Given the description of an element on the screen output the (x, y) to click on. 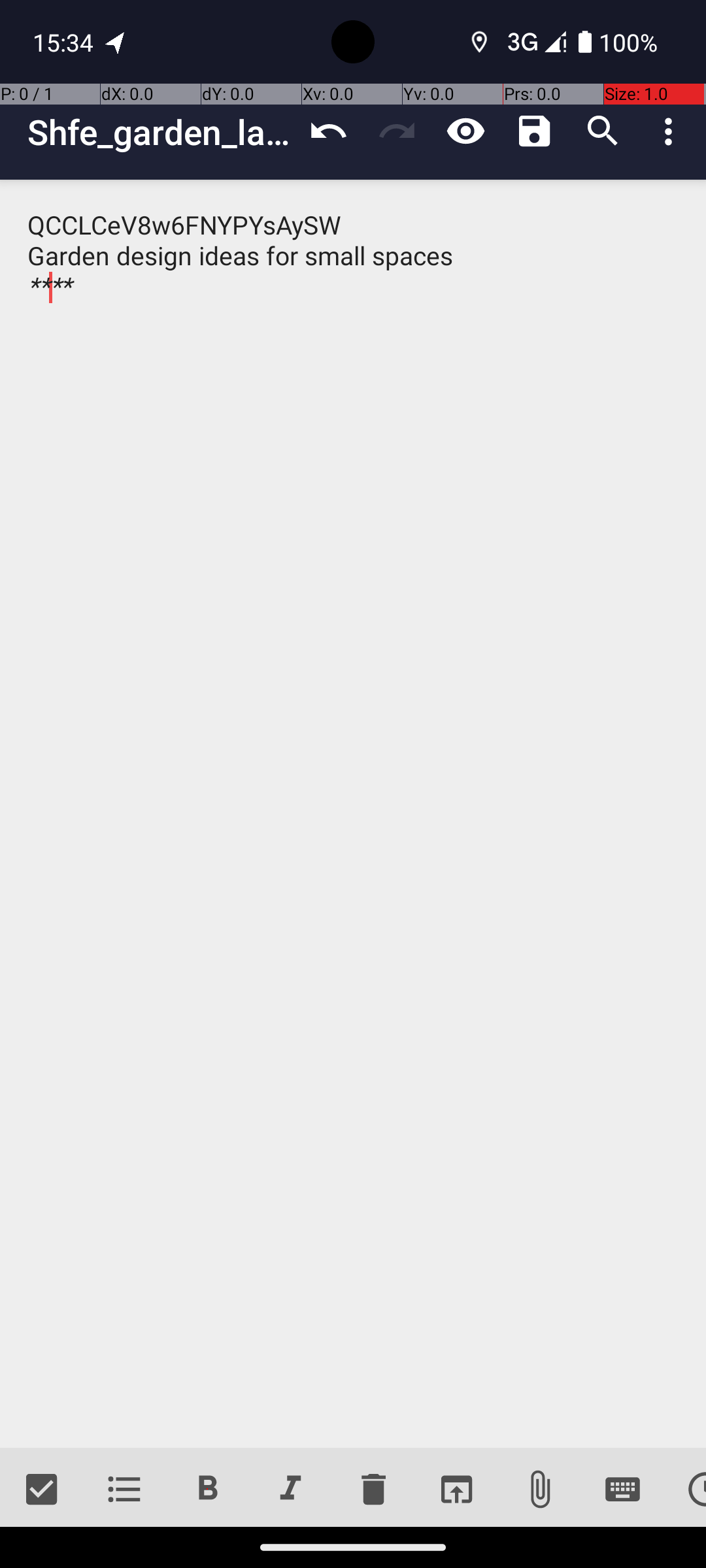
Shfe_garden_layout_plan Element type: android.widget.TextView (160, 131)
QCCLCeV8w6FNYPYsAySW
Garden design ideas for small spaces
**** Element type: android.widget.EditText (353, 813)
